Given the description of an element on the screen output the (x, y) to click on. 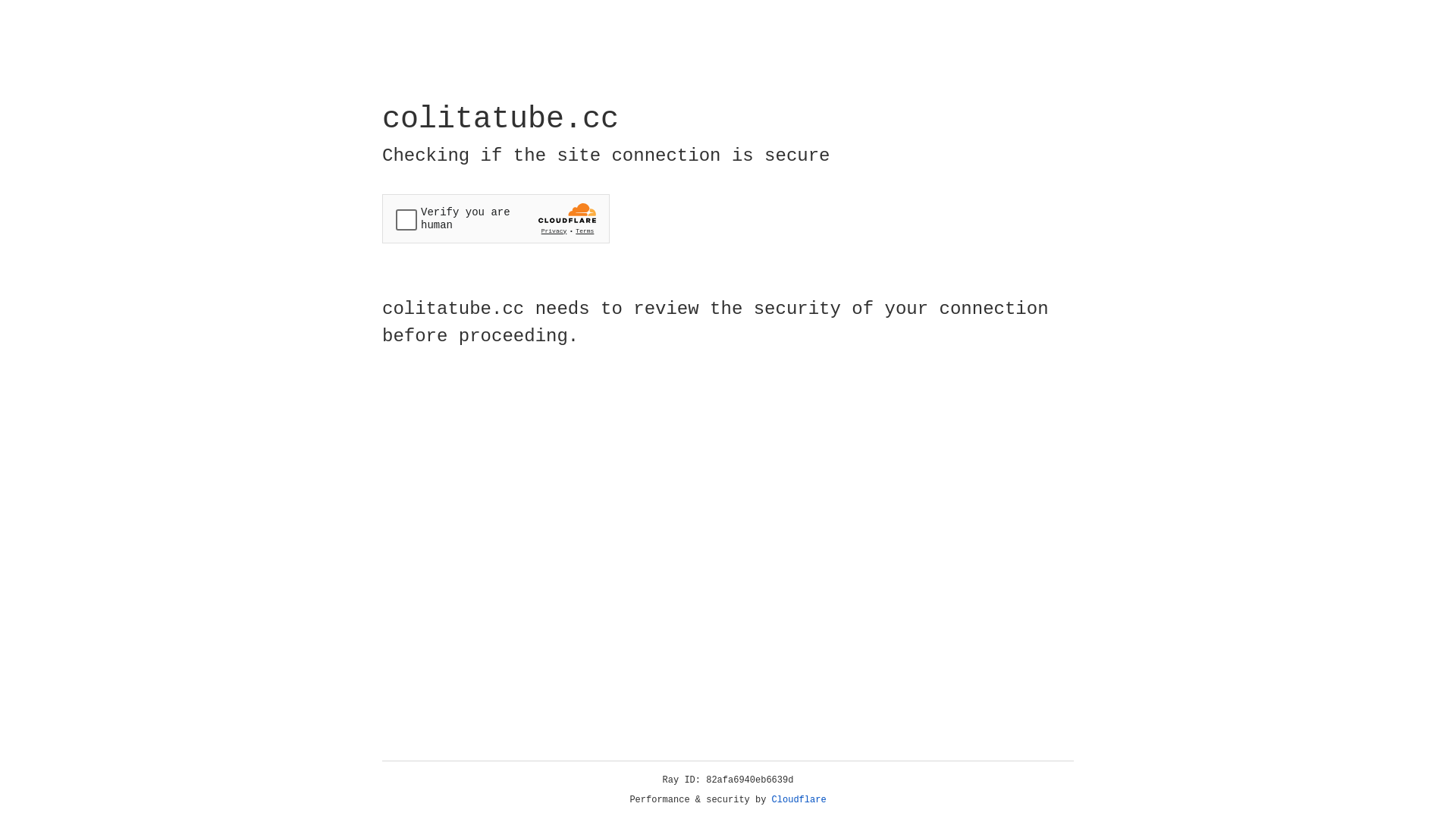
Widget containing a Cloudflare security challenge Element type: hover (495, 218)
Cloudflare Element type: text (798, 799)
